Given the description of an element on the screen output the (x, y) to click on. 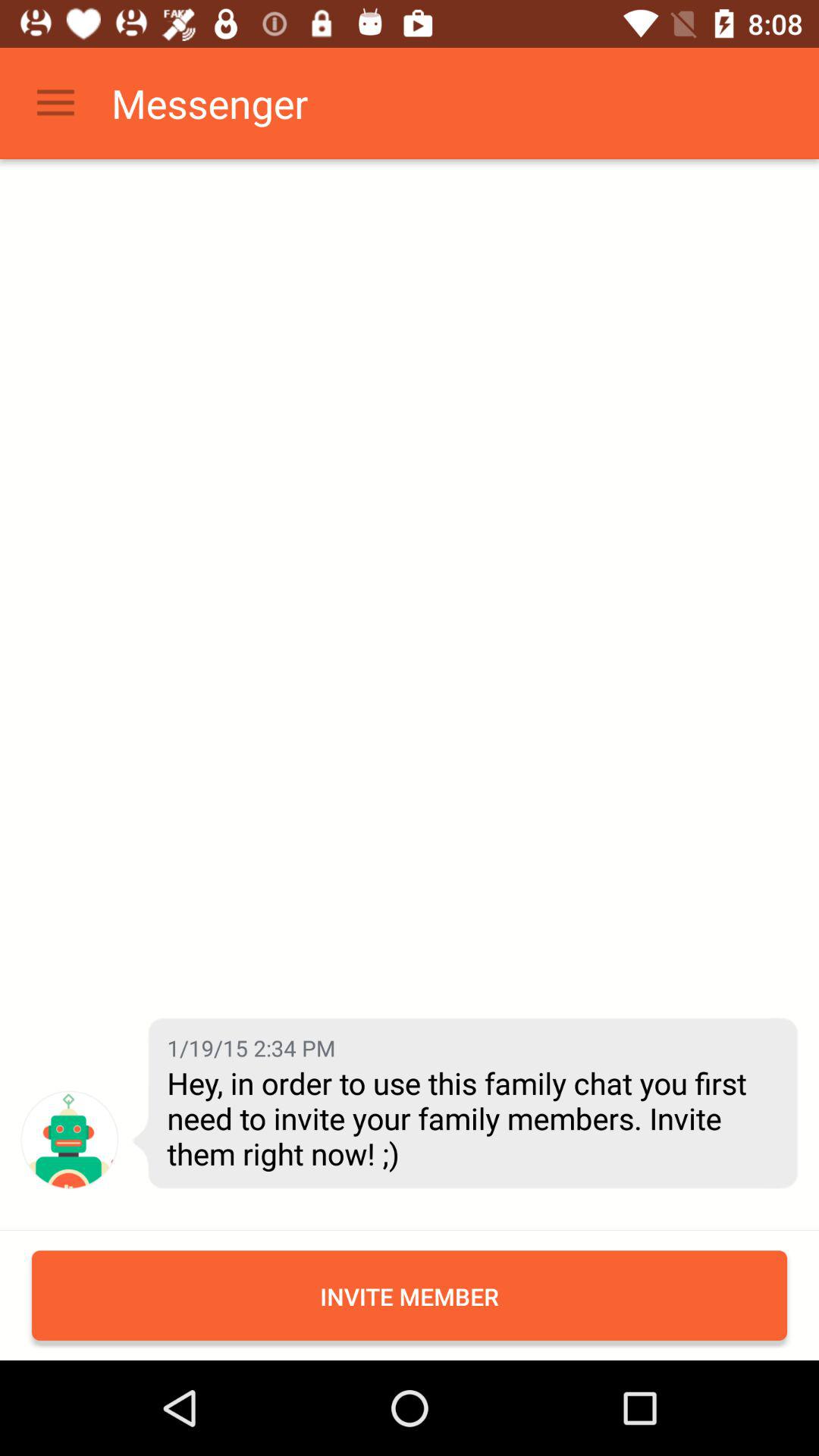
turn on item to the left of hey in order icon (69, 1139)
